Given the description of an element on the screen output the (x, y) to click on. 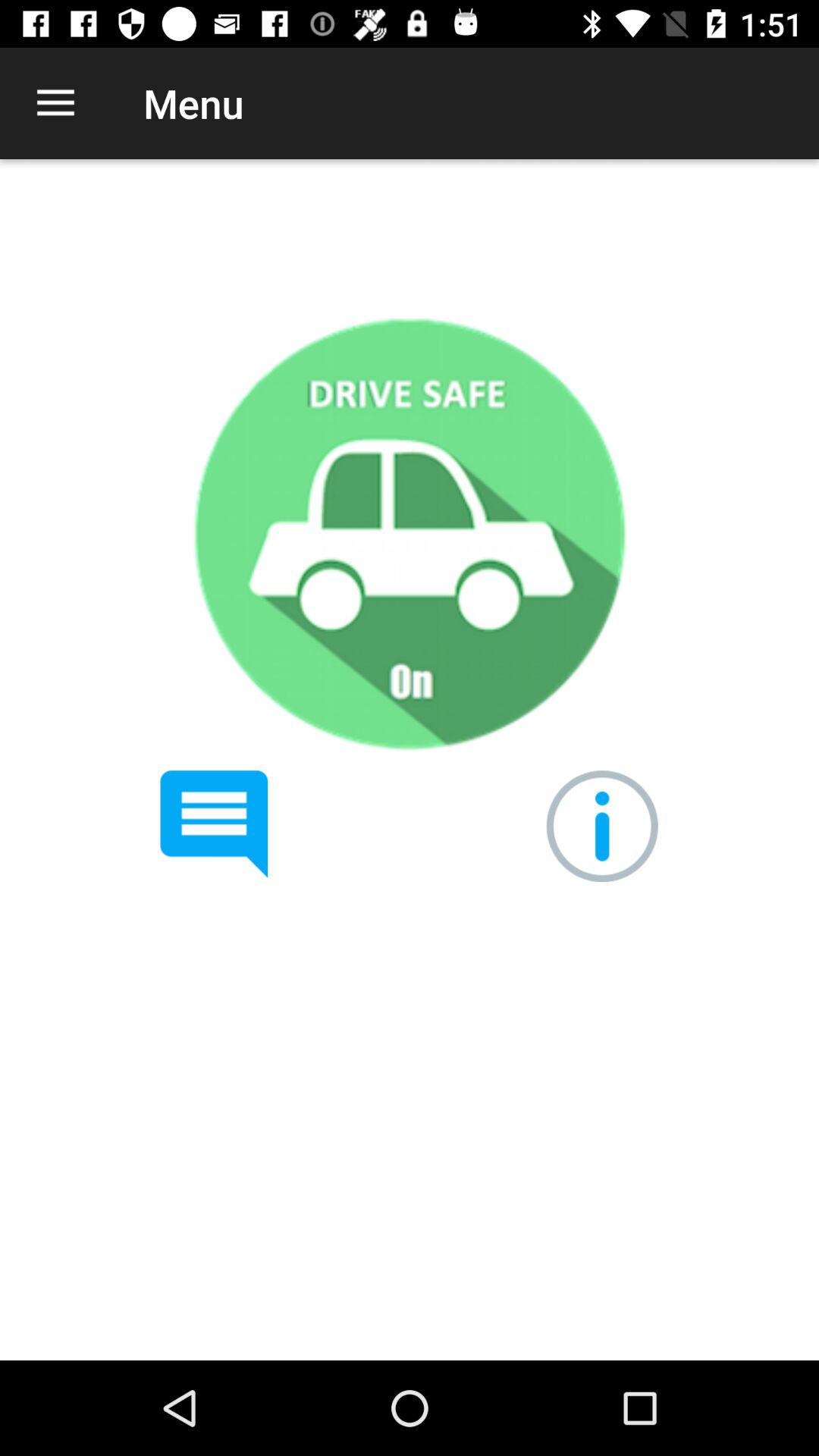
get information (602, 826)
